Given the description of an element on the screen output the (x, y) to click on. 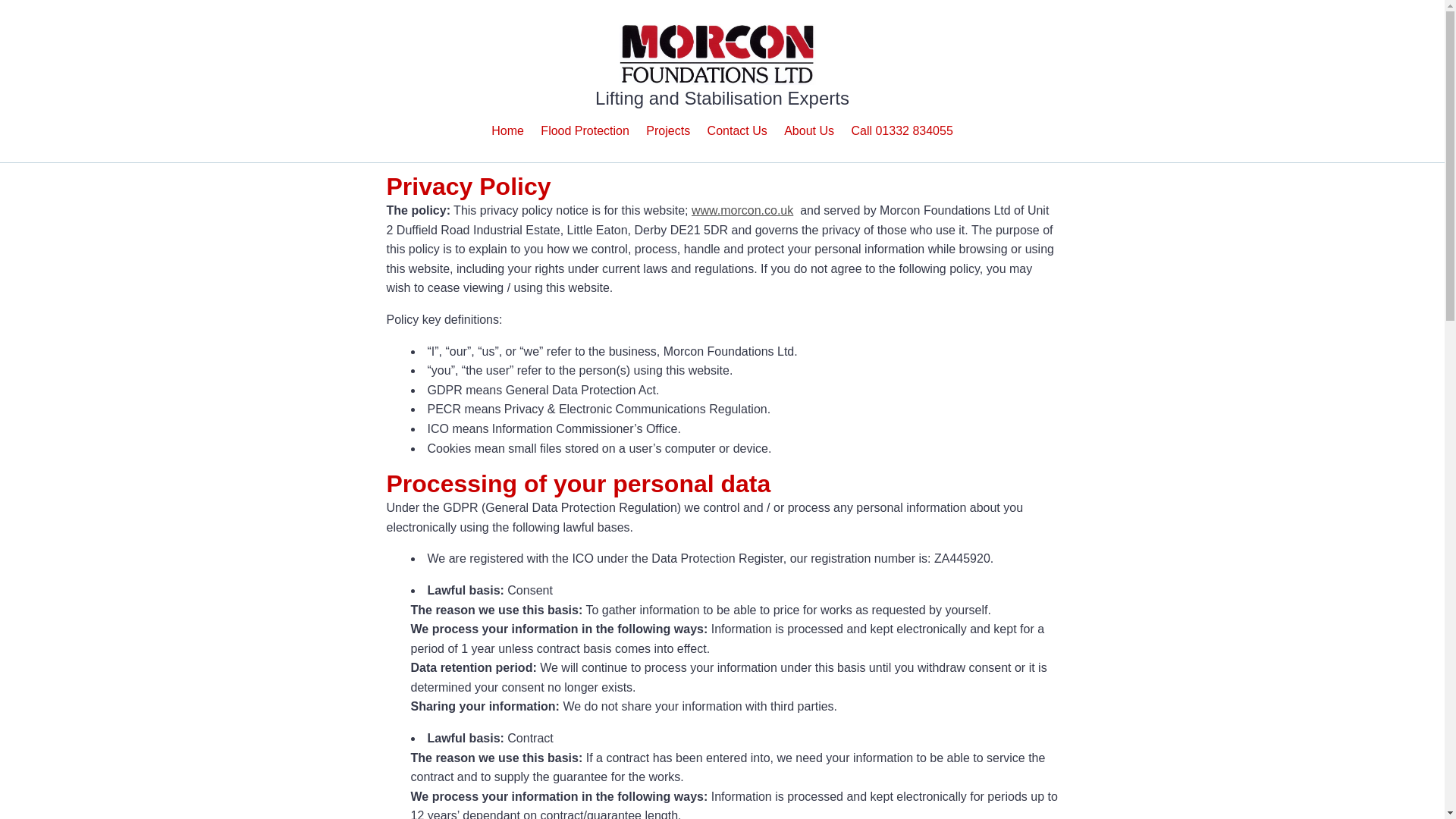
Call 01332 834055 (901, 131)
Home (508, 131)
www.morcon.co.uk (742, 210)
About Us (809, 131)
Contact Us (737, 131)
Flood Protection (584, 131)
Projects (668, 131)
